Given the description of an element on the screen output the (x, y) to click on. 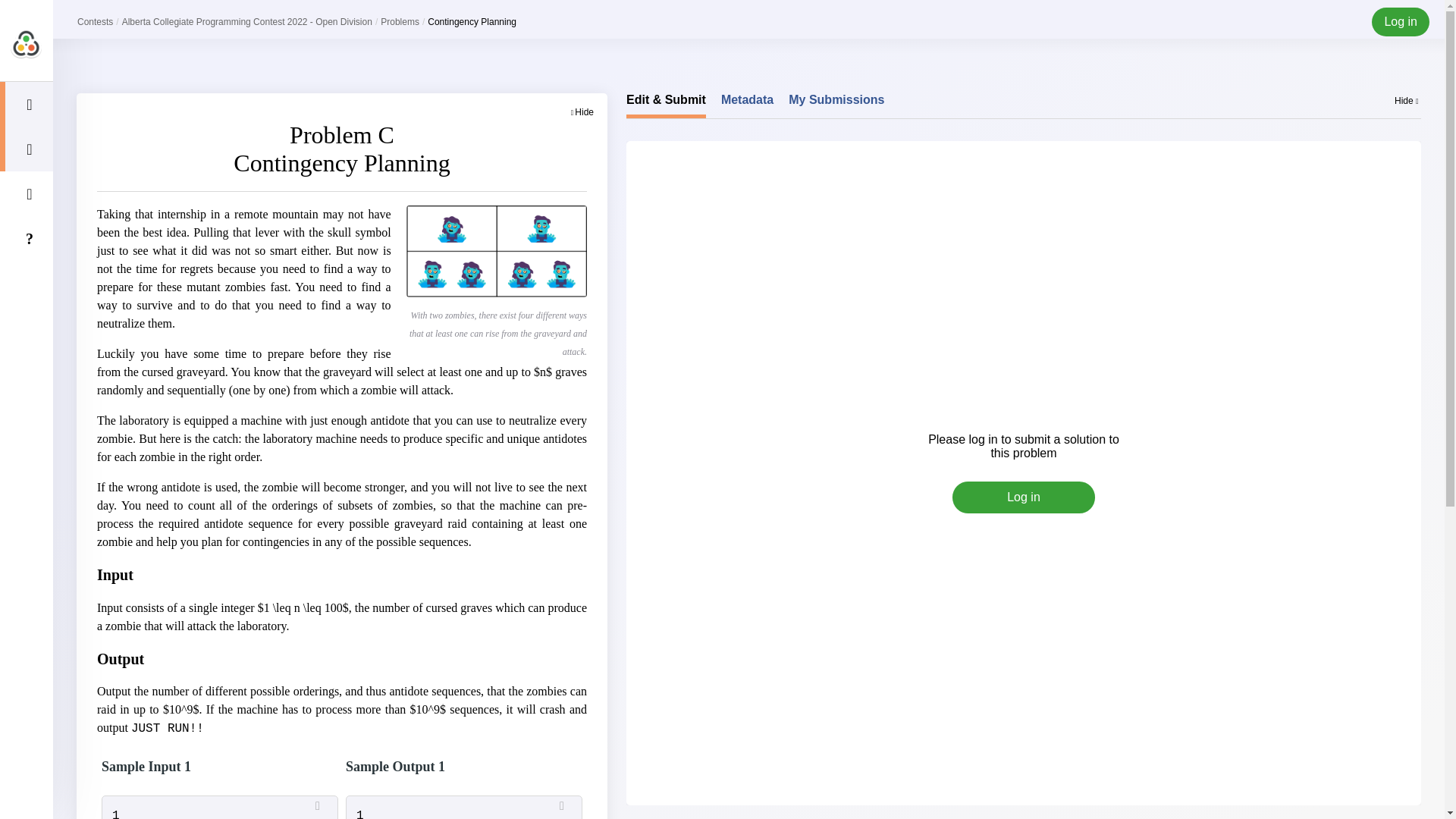
Log in (1023, 496)
Standings (26, 103)
Log in (1400, 21)
My Submissions (836, 105)
Metadata (746, 105)
Help (26, 238)
My Submissions (836, 105)
Info (26, 193)
Problems (26, 148)
Alberta Collegiate Programming Contest 2022 - Open Division (247, 21)
